Given the description of an element on the screen output the (x, y) to click on. 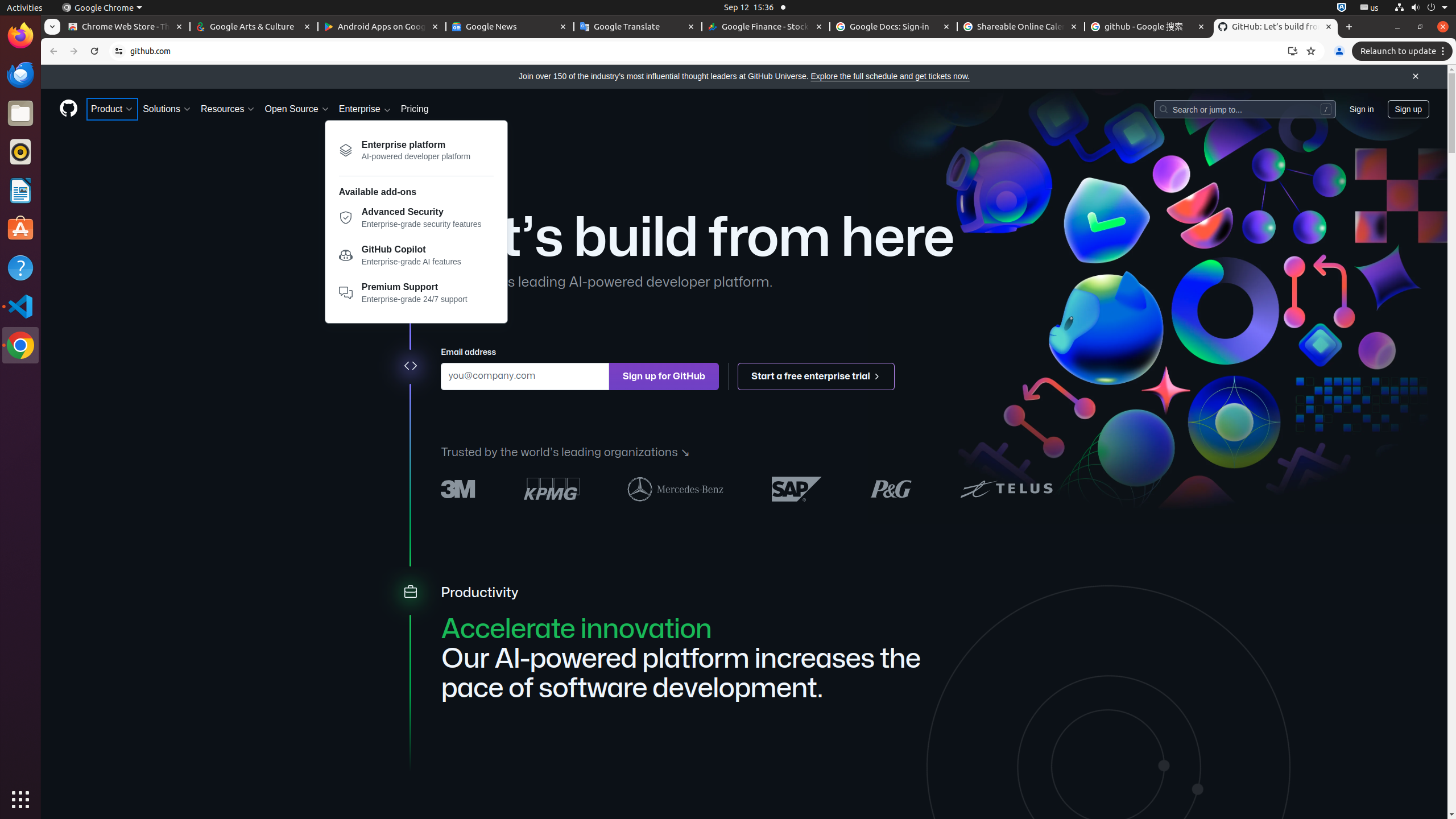
Search or jump to… Element type: push-button (1244, 108)
Sign in Element type: link (1361, 108)
System Element type: menu (1420, 7)
github - Google 搜索 - Memory usage - 111 MB Element type: page-tab (1148, 26)
Google Chrome Element type: push-button (20, 344)
